Given the description of an element on the screen output the (x, y) to click on. 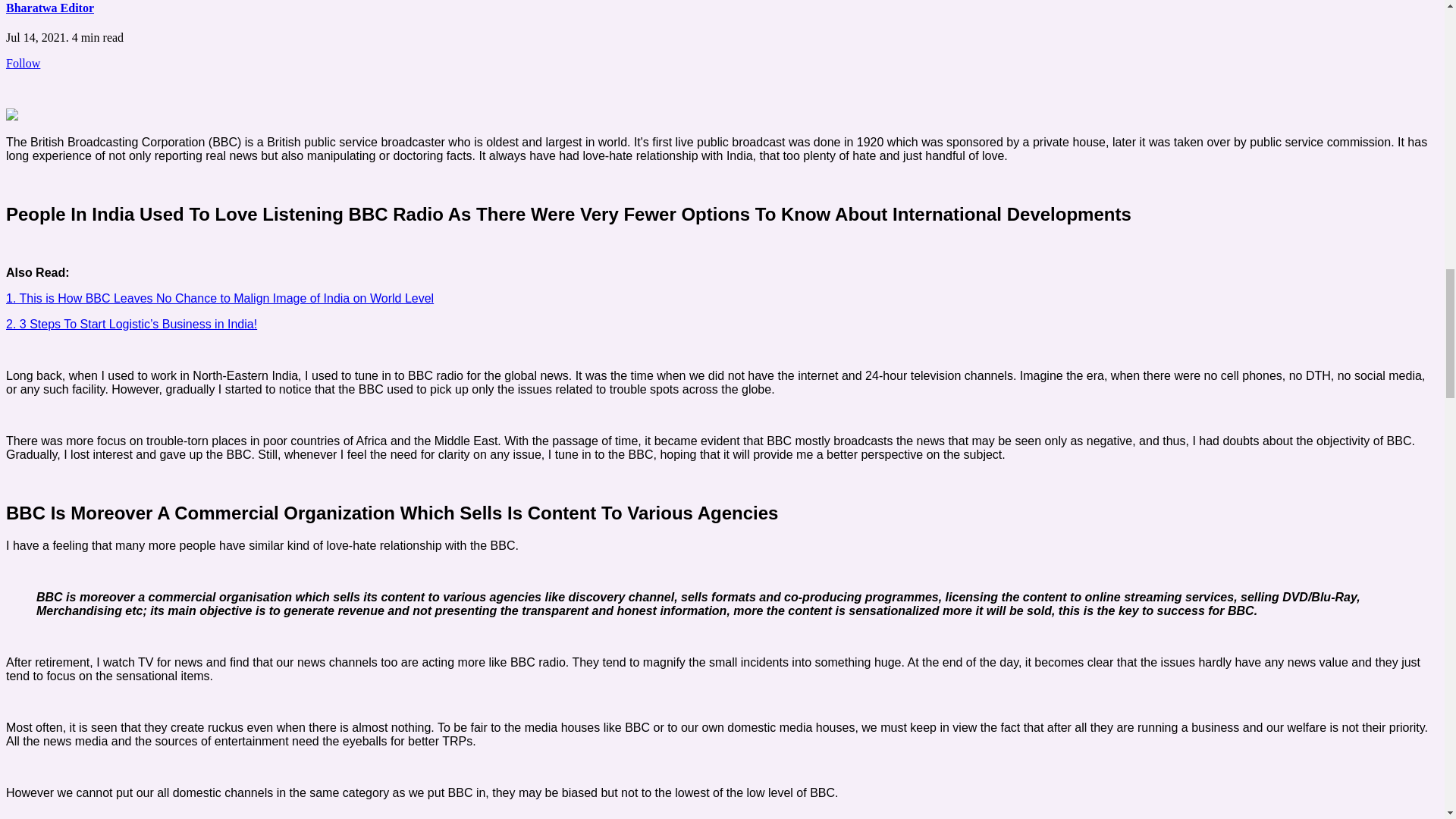
Follow (22, 62)
